Given the description of an element on the screen output the (x, y) to click on. 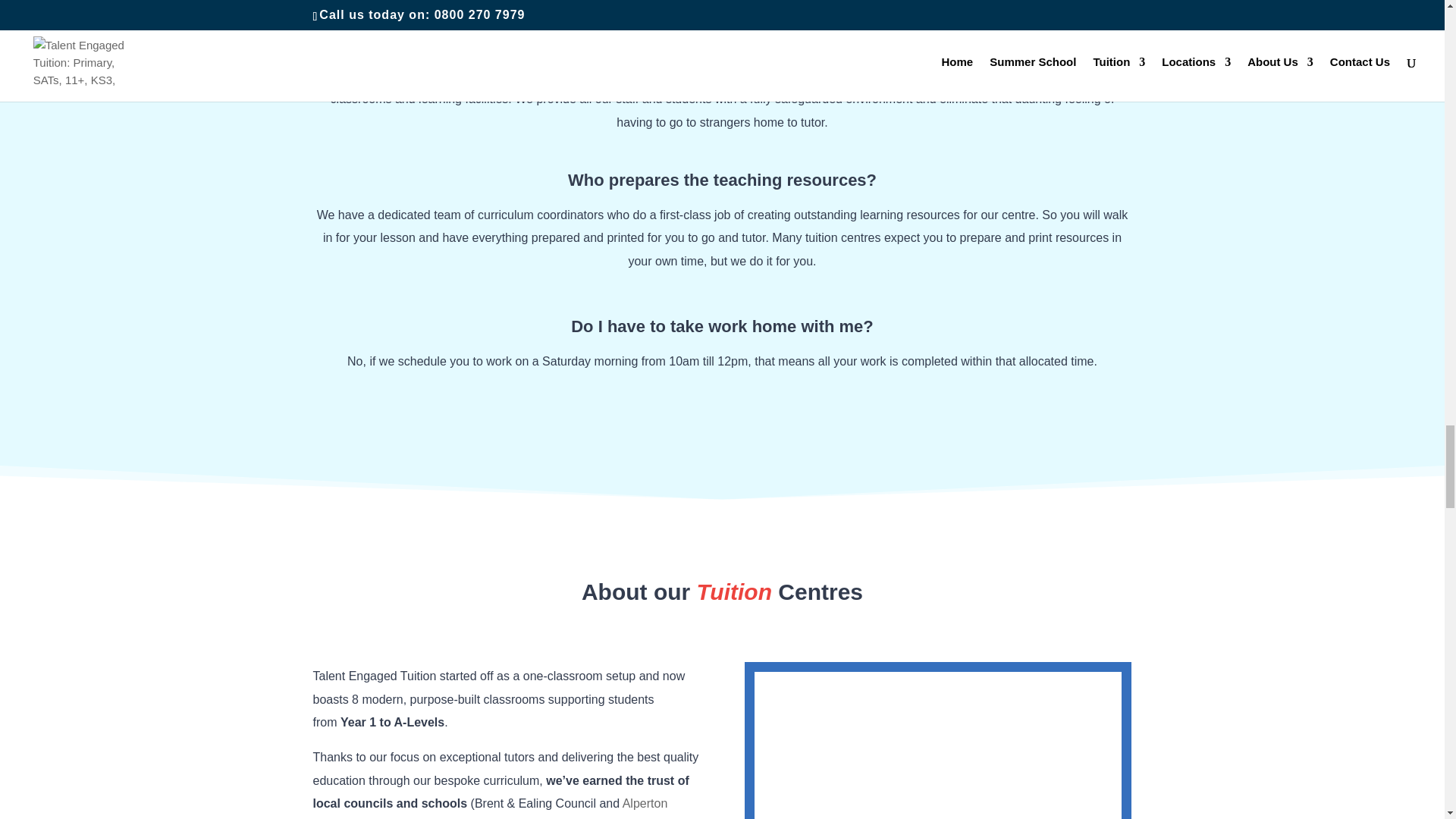
Alperton Community School (489, 807)
Talent Engaged Tuition Tour (937, 745)
